Given the description of an element on the screen output the (x, y) to click on. 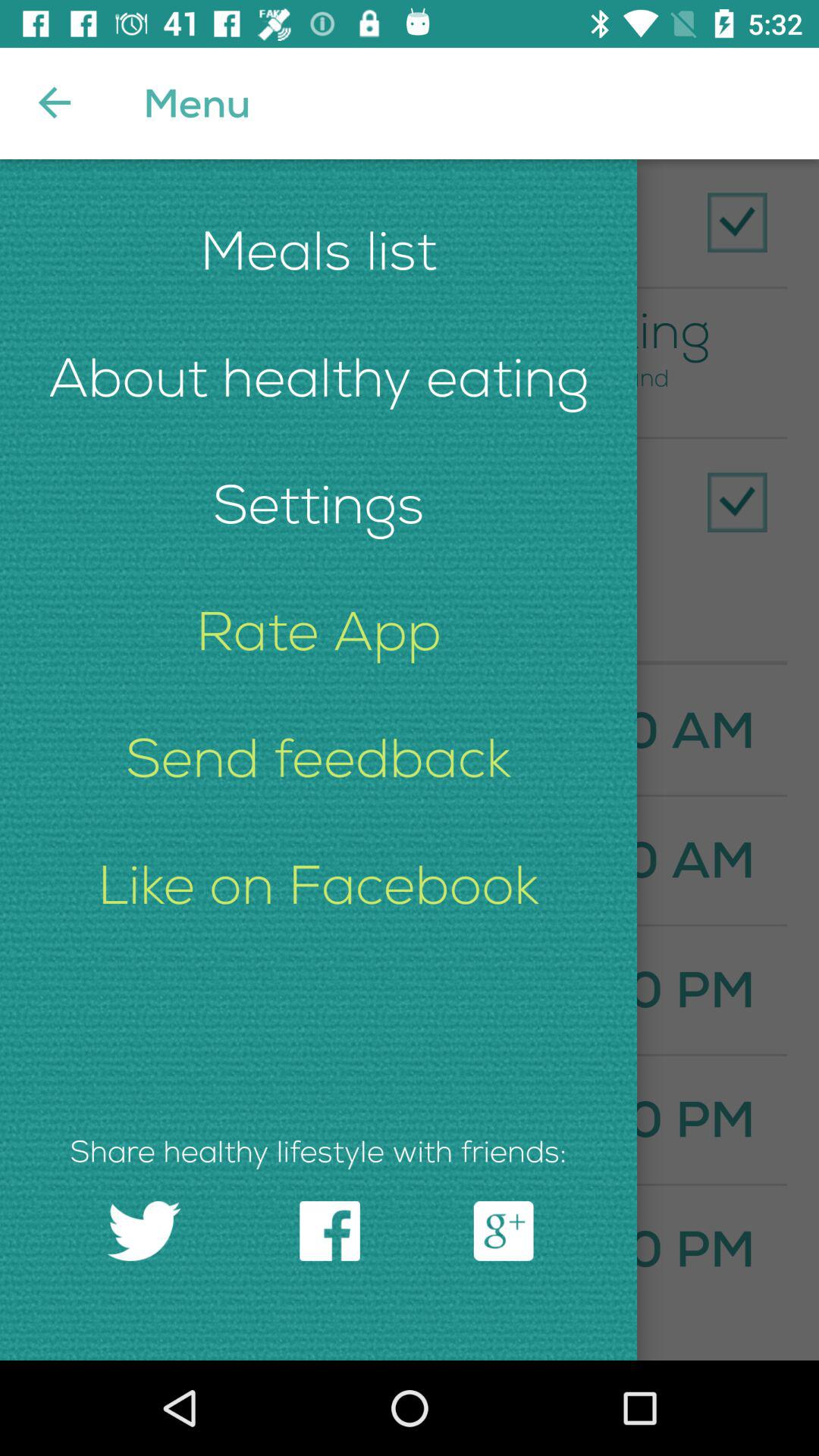
click on the twitter logo (144, 1230)
click the icon which is right side of facebook icon (503, 1230)
